Given the description of an element on the screen output the (x, y) to click on. 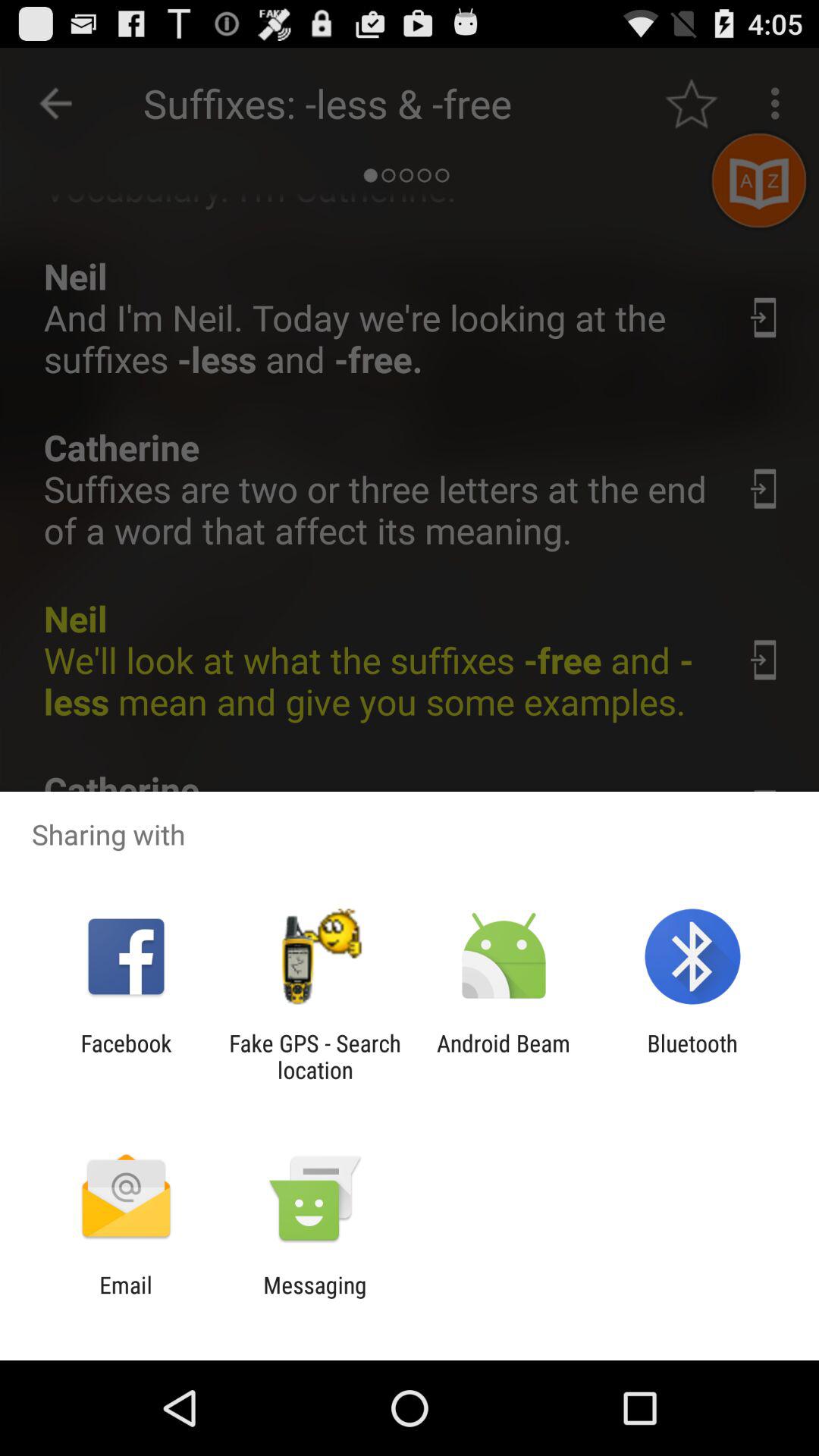
turn on the app at the bottom right corner (692, 1056)
